Given the description of an element on the screen output the (x, y) to click on. 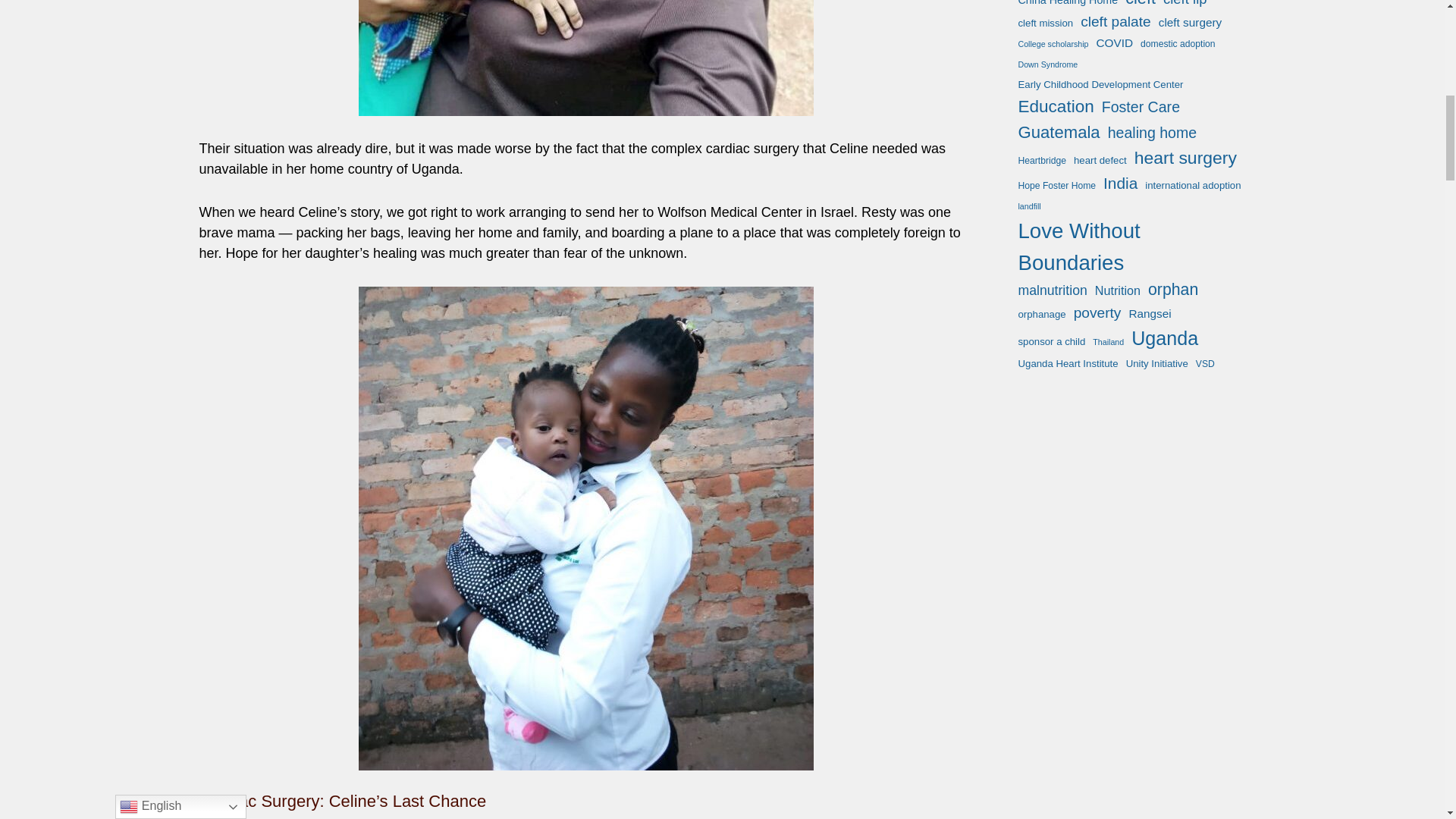
China Healing Home (1067, 4)
cleft (1140, 5)
cleft lip (1185, 4)
